Given the description of an element on the screen output the (x, y) to click on. 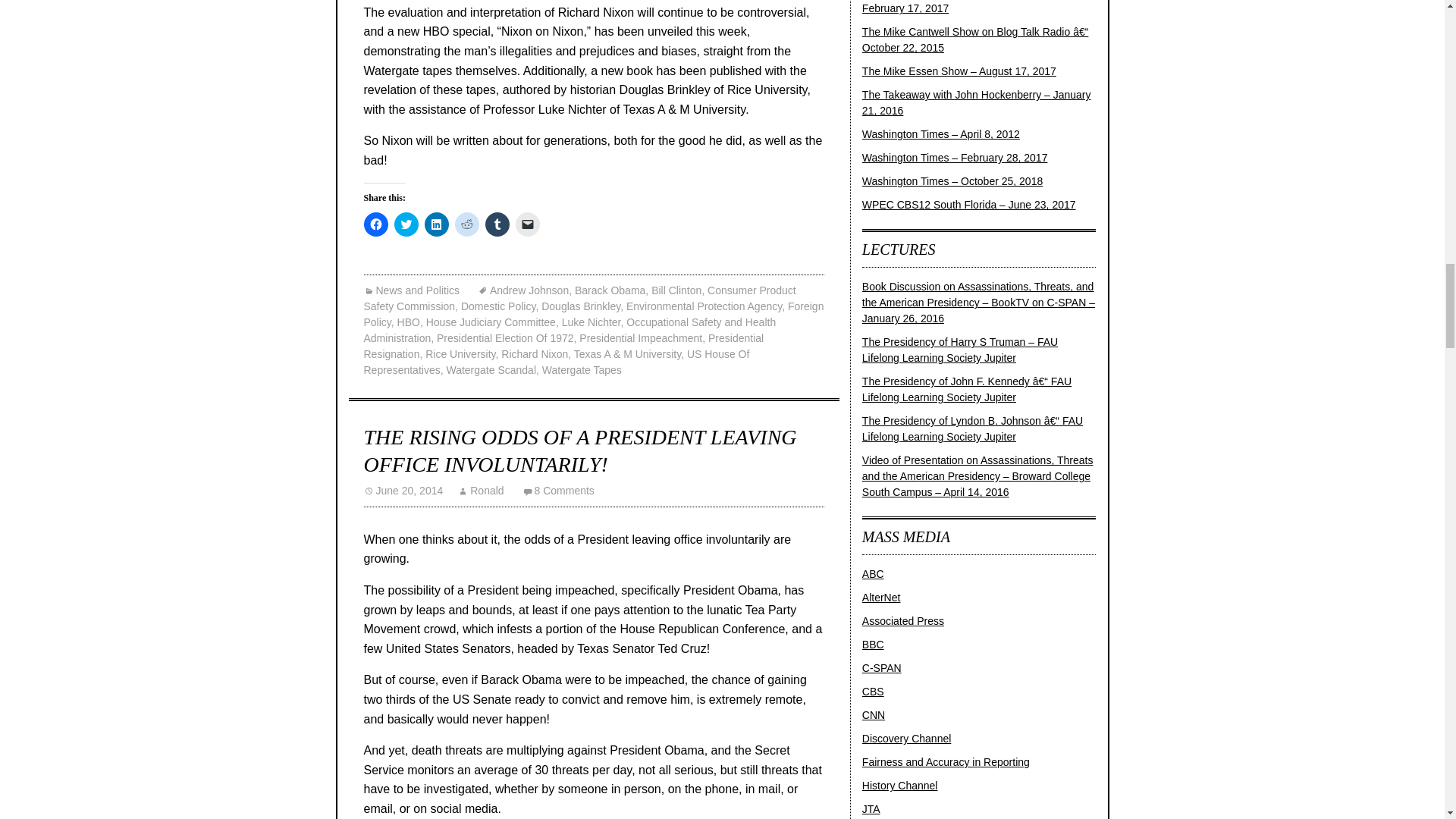
Click to share on Facebook (376, 224)
